Given the description of an element on the screen output the (x, y) to click on. 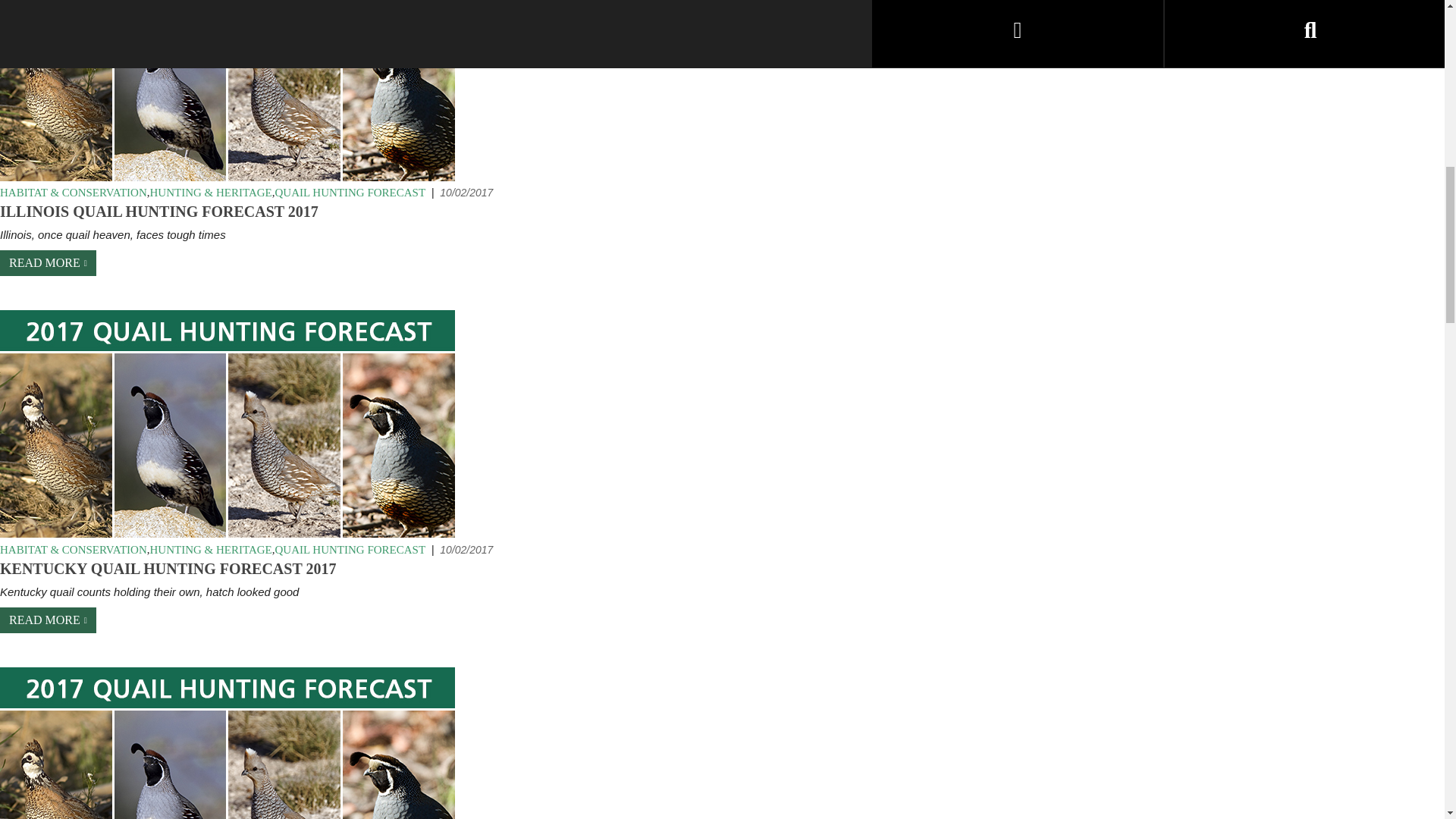
READ MORE (48, 263)
QUAIL HUNTING FORECAST (350, 192)
ILLINOIS QUAIL HUNTING FORECAST 2017 (159, 213)
